Given the description of an element on the screen output the (x, y) to click on. 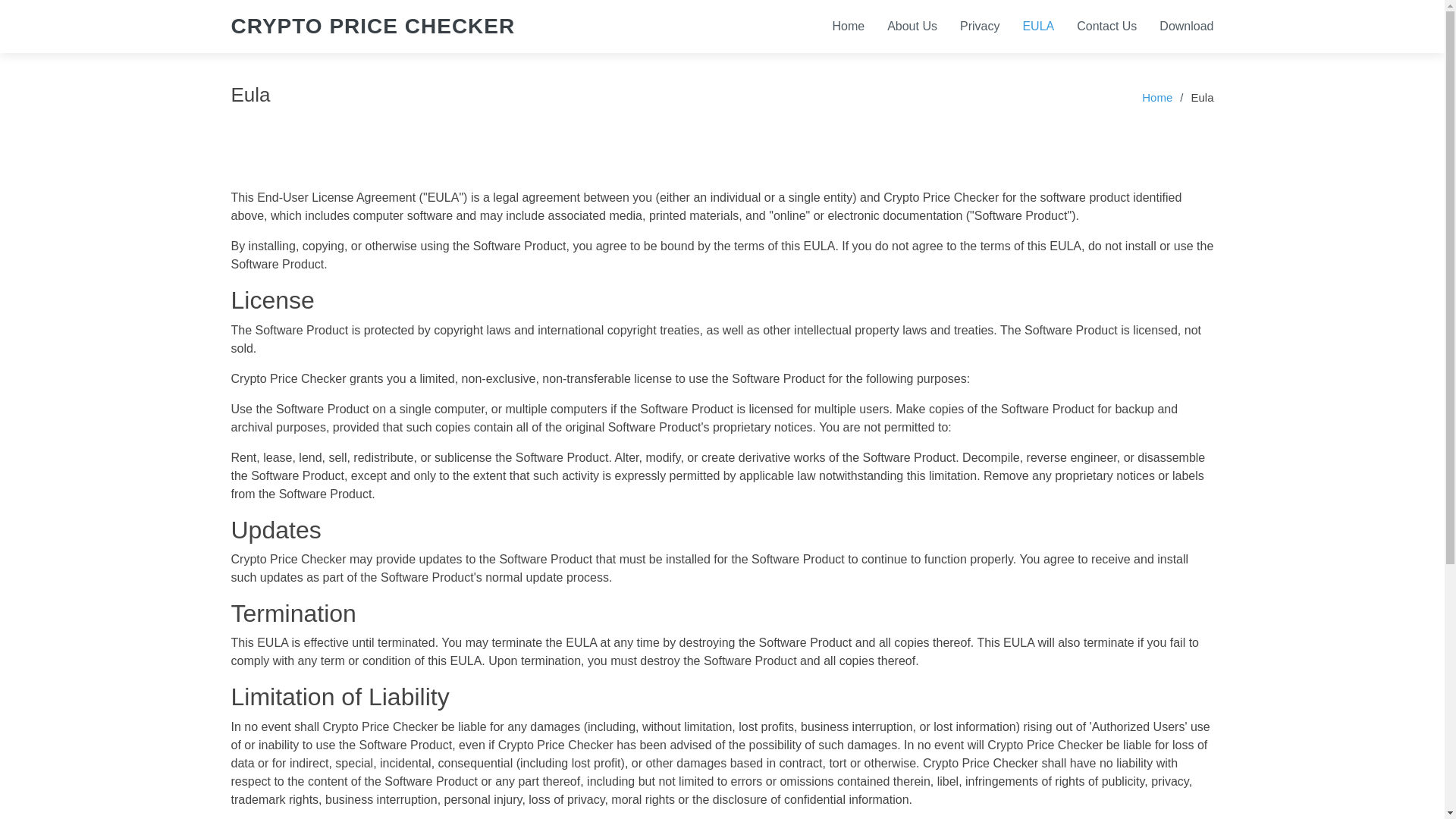
Download (1174, 26)
EULA (1026, 26)
Privacy (967, 26)
CRYPTO PRICE CHECKER (372, 25)
Home (836, 26)
Home (1156, 97)
EULA (1026, 26)
Download (1174, 26)
Home (836, 26)
Privacy (967, 26)
